Given the description of an element on the screen output the (x, y) to click on. 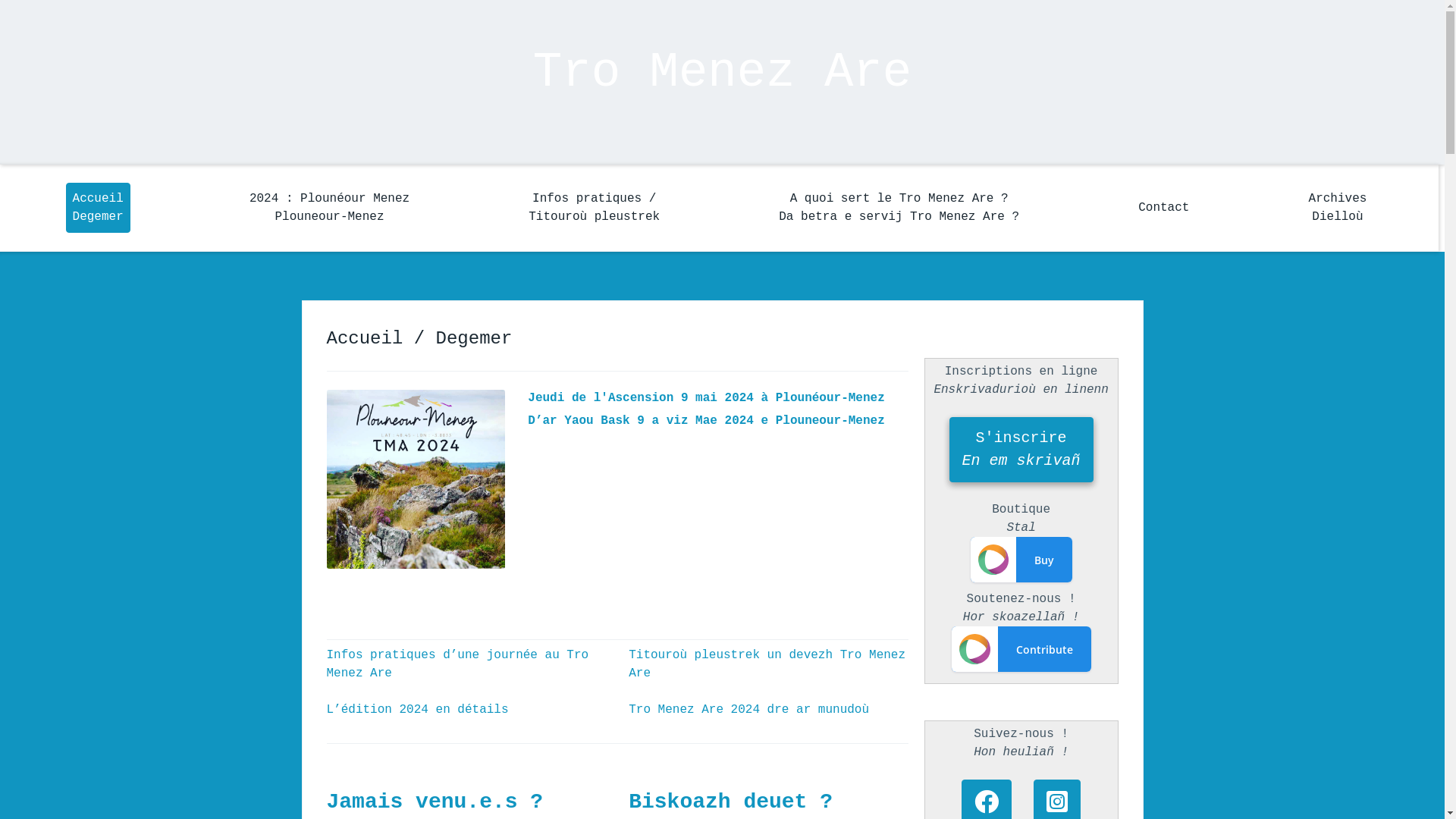
Accueil
Degemer Element type: text (97, 207)
Contact Element type: text (1163, 207)
